Given the description of an element on the screen output the (x, y) to click on. 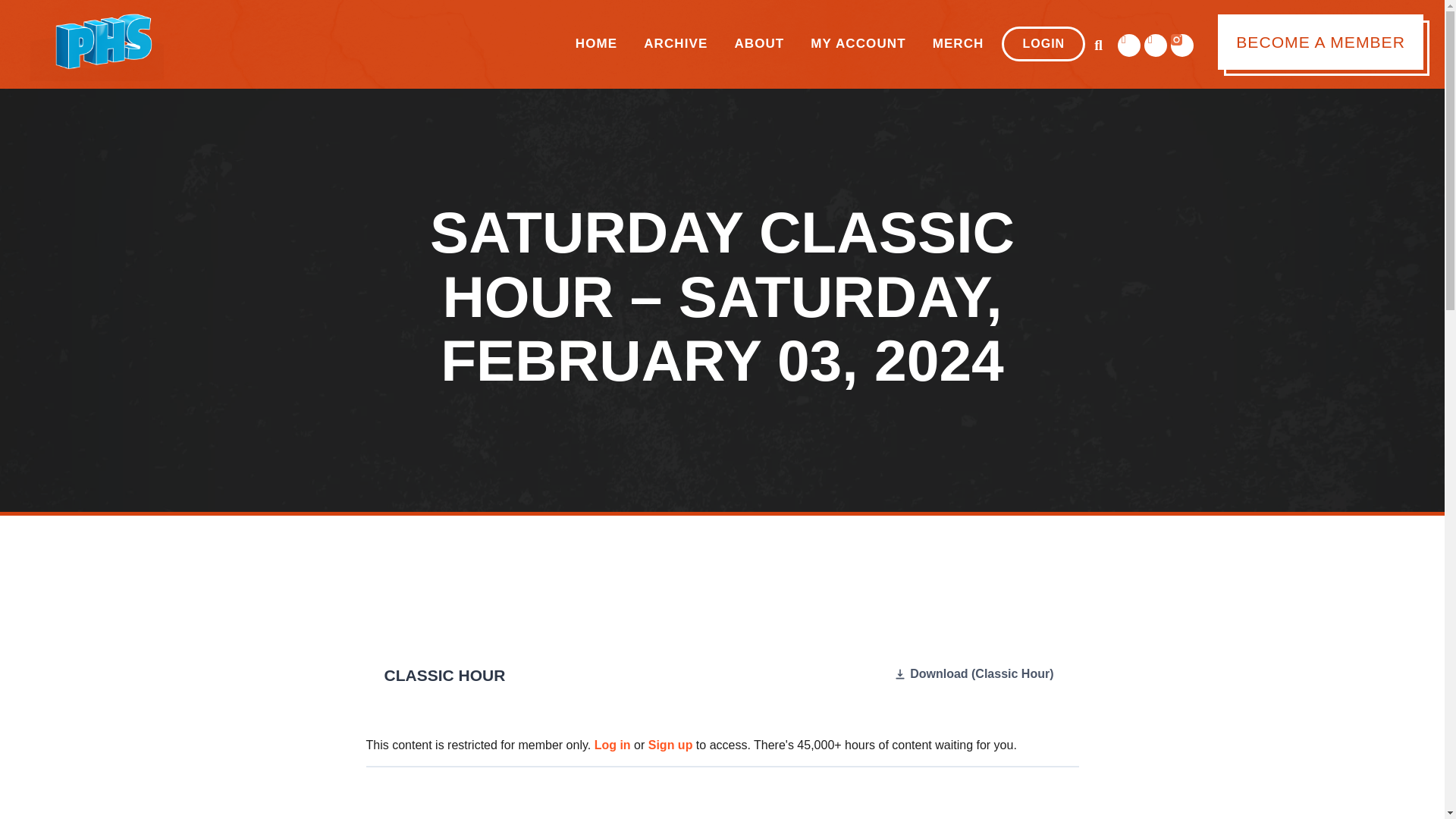
MERCH (958, 43)
LOGIN (1042, 43)
Sign up (670, 744)
Log in (612, 744)
ARCHIVE (675, 43)
ABOUT (758, 43)
BECOME A MEMBER (1320, 41)
MY ACCOUNT (857, 43)
HOME (596, 43)
